Given the description of an element on the screen output the (x, y) to click on. 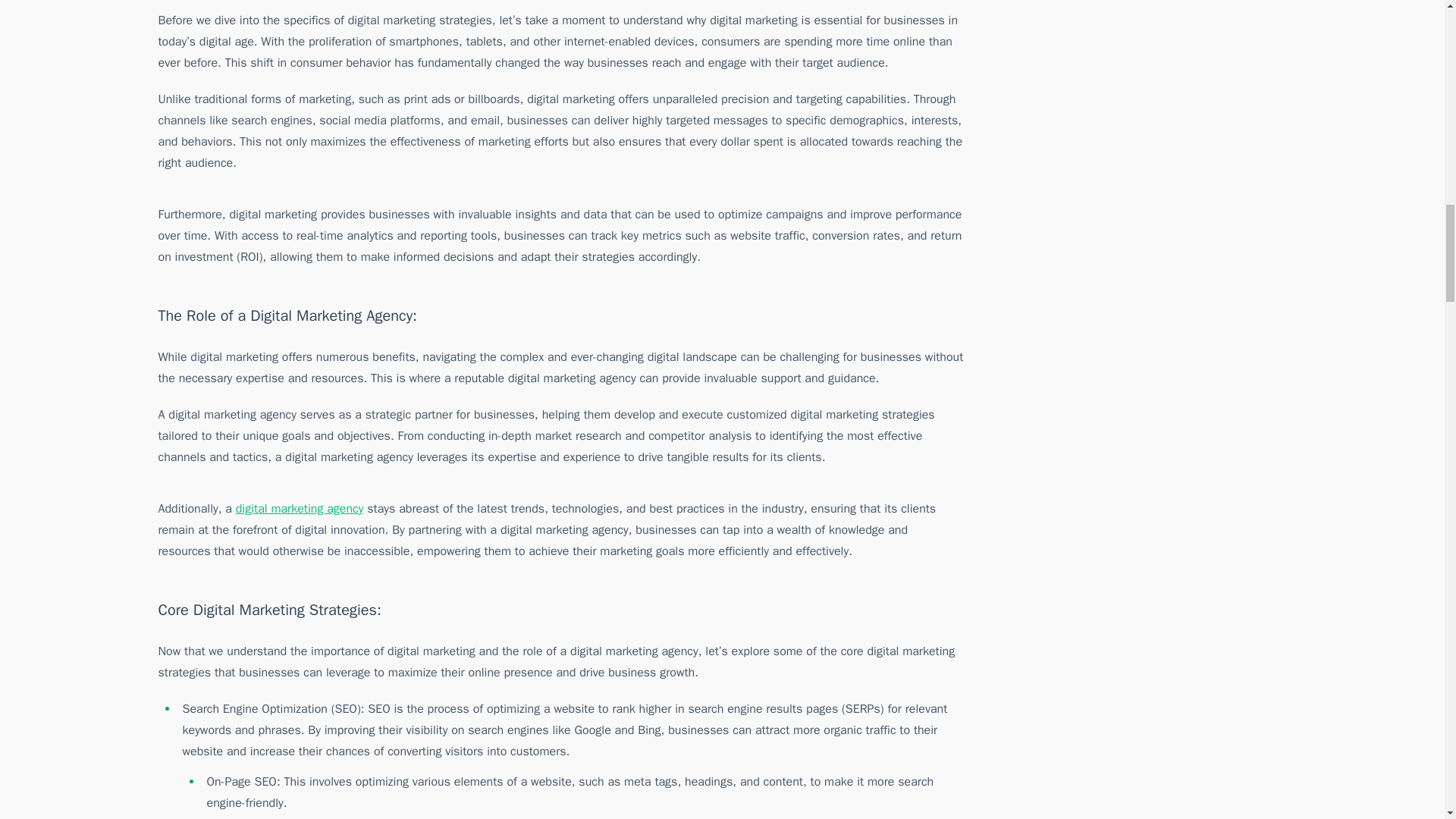
digital marketing agency (299, 508)
